Given the description of an element on the screen output the (x, y) to click on. 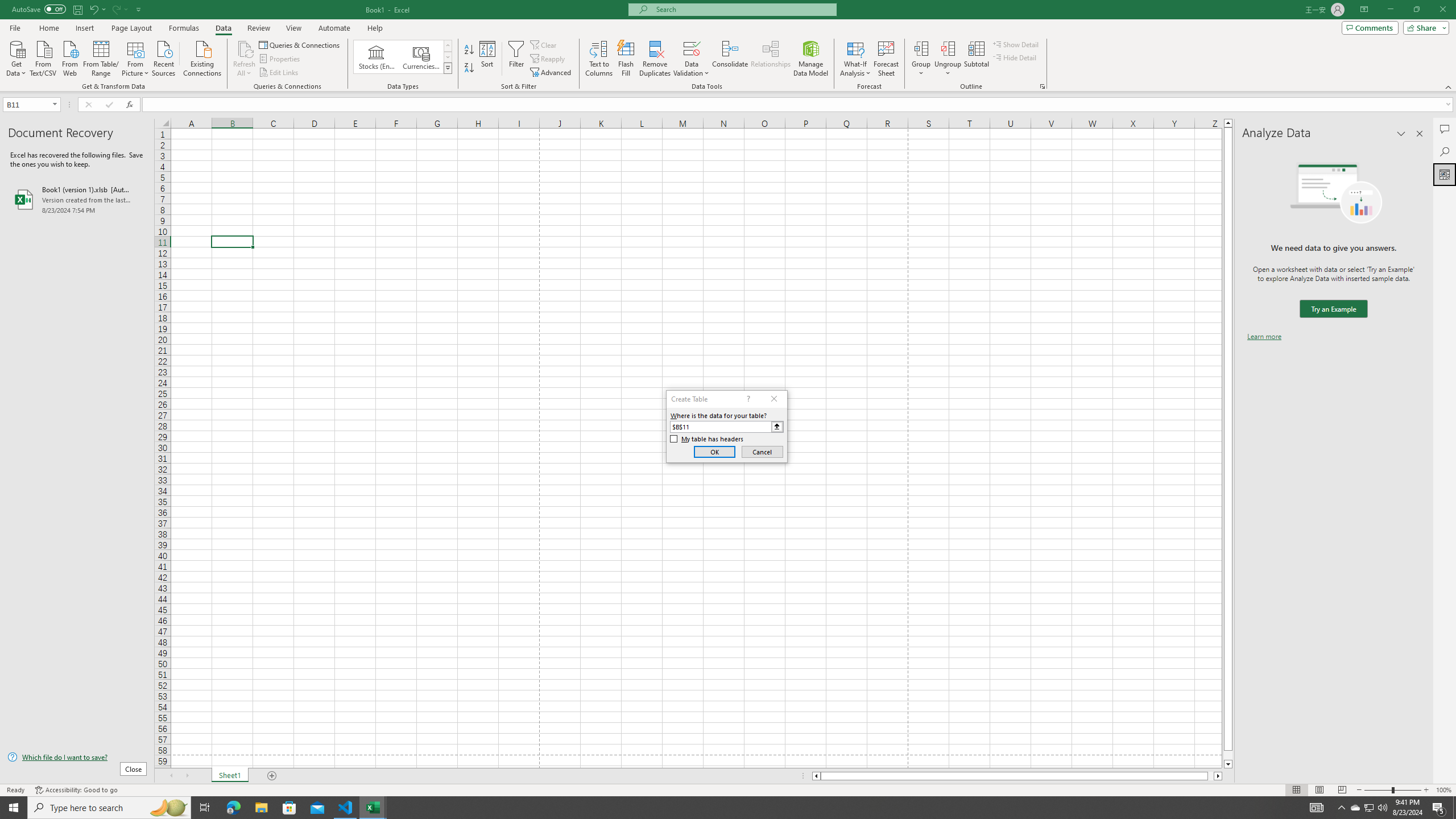
Group... (921, 48)
Learn more (1264, 336)
Refresh All (244, 58)
